Given the description of an element on the screen output the (x, y) to click on. 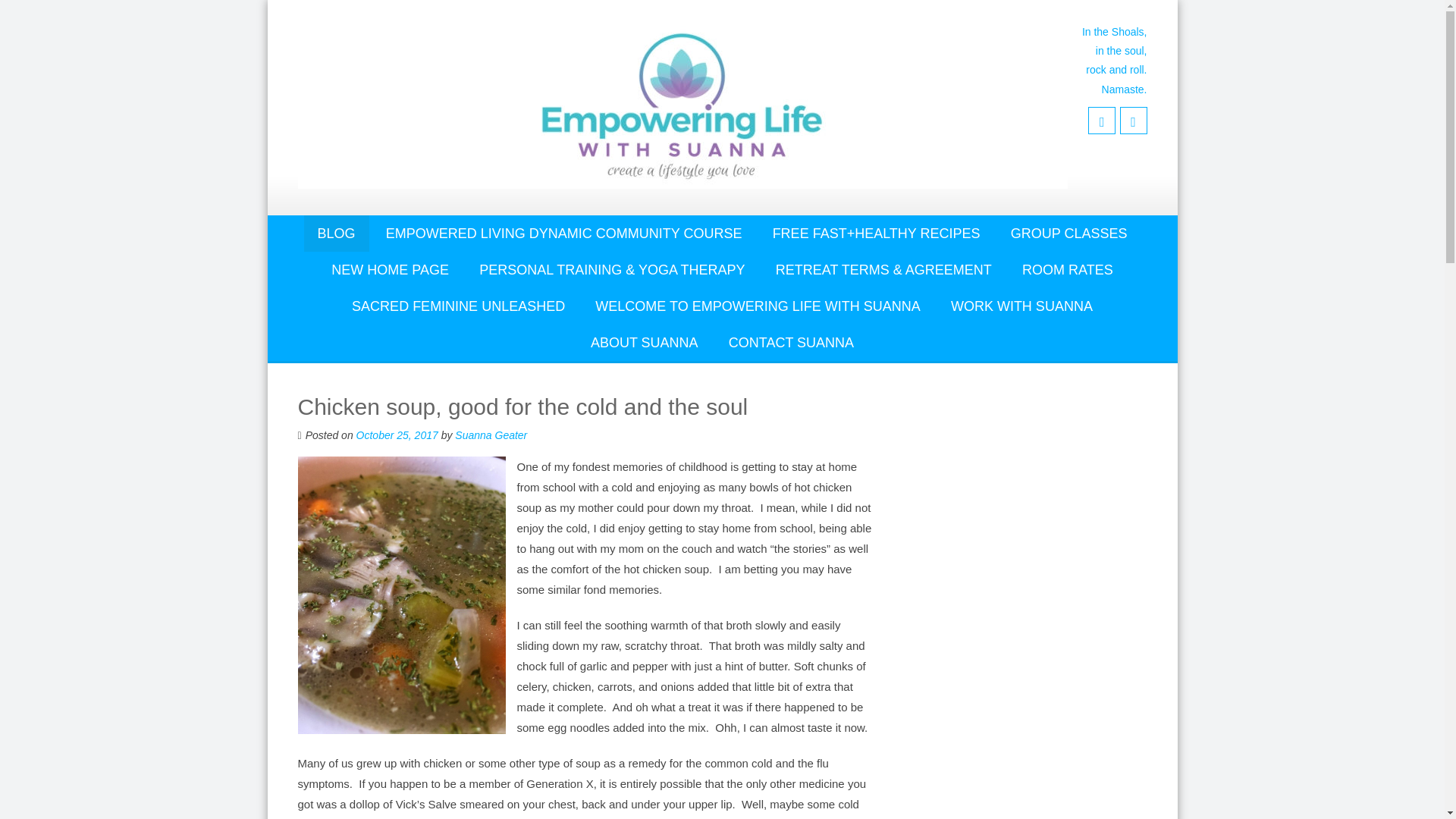
NEW HOME PAGE (390, 269)
CONTACT SUANNA (790, 342)
ABOUT SUANNA (643, 342)
WORK WITH SUANNA (1021, 306)
GROUP CLASSES (1069, 233)
BLOG (336, 233)
Facebook (1101, 120)
October 25, 2017 (397, 435)
EMPOWERED LIVING DYNAMIC COMMUNITY COURSE (563, 233)
Suanna Geater (490, 435)
